Given the description of an element on the screen output the (x, y) to click on. 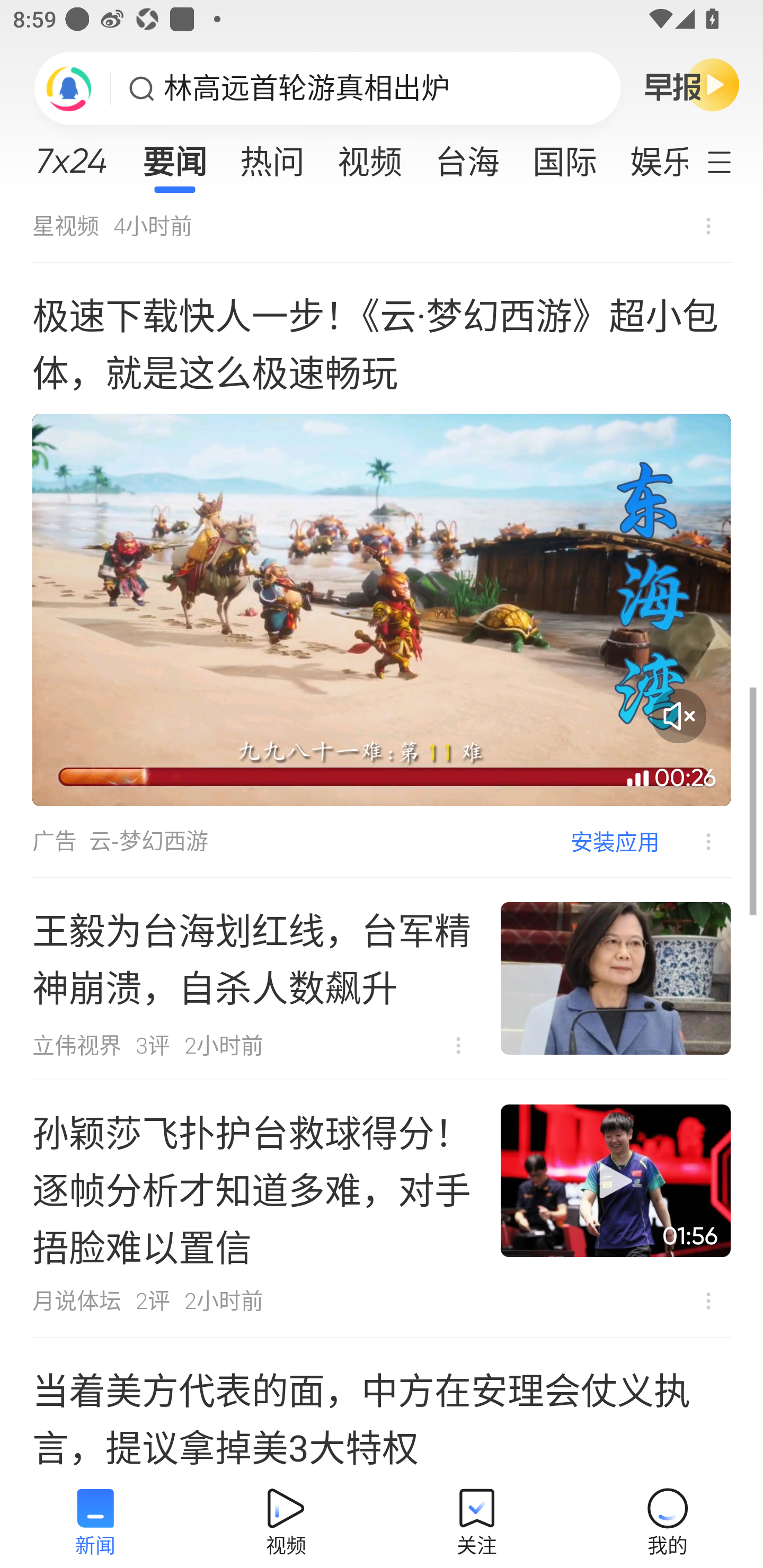
早晚报 (691, 84)
刷新 (68, 88)
林高远首轮游真相出炉 (307, 88)
7x24 (70, 154)
要闻 (174, 155)
热问 (272, 155)
视频 (369, 155)
台海 (466, 155)
国际 (564, 155)
娱乐 (650, 155)
 定制频道 (731, 160)
星视频 4小时前  不感兴趣 (381, 229)
 不感兴趣 (707, 225)
00:27 音量开关 (381, 609)
音量开关 (678, 715)
 不感兴趣 (694, 840)
安装应用 (614, 841)
广告 (54, 840)
云-梦幻西游 (148, 840)
王毅为台海划红线，台军精神崩溃，自杀人数飙升 立伟视界 3评 2小时前  不感兴趣 (381, 979)
 不感兴趣 (458, 1045)
 不感兴趣 (707, 1301)
当着美方代表的面，中方在安理会仗义执言，提议拿掉美3大特权 (381, 1407)
